Given the description of an element on the screen output the (x, y) to click on. 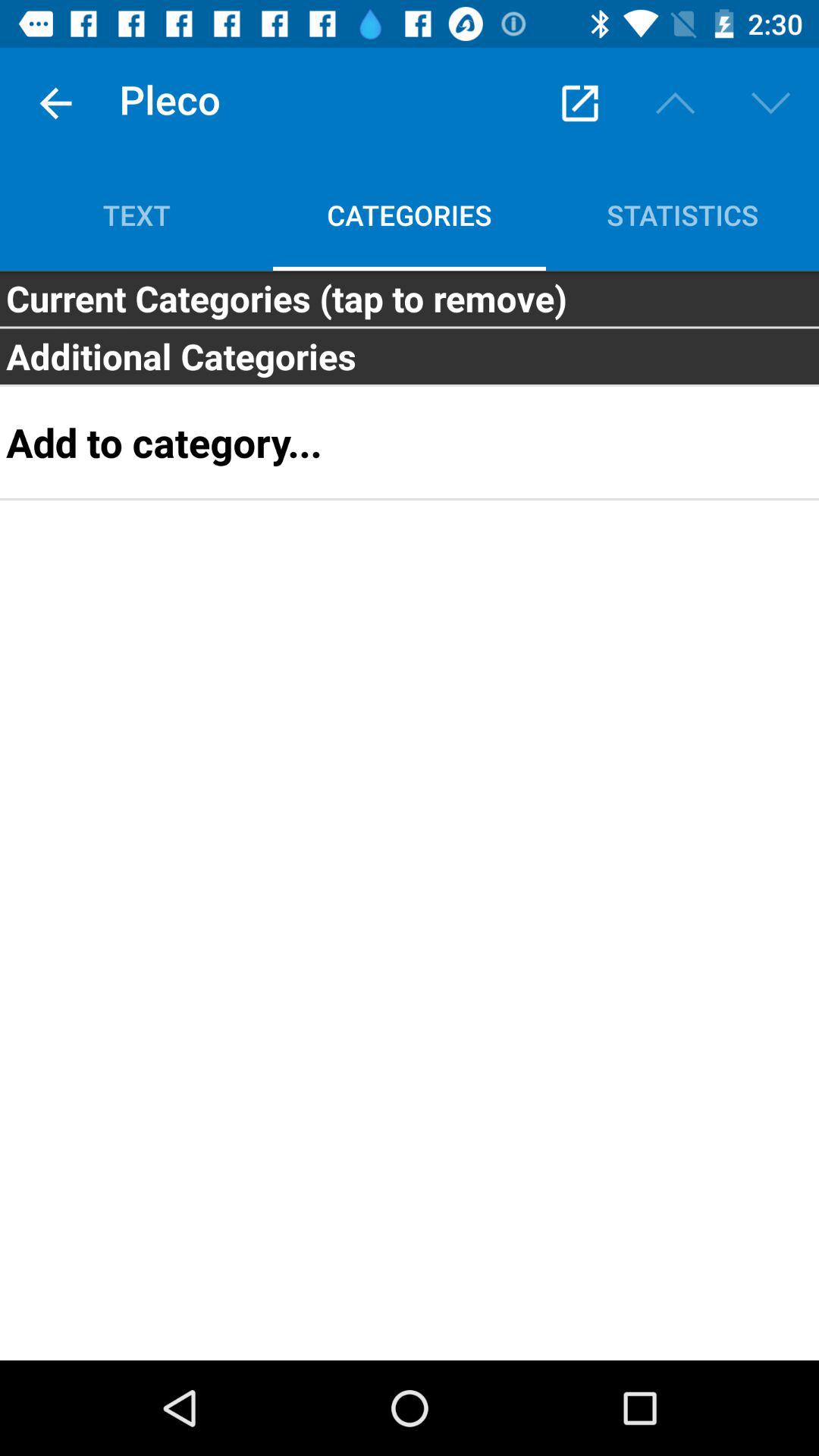
open the icon next to text item (579, 103)
